Given the description of an element on the screen output the (x, y) to click on. 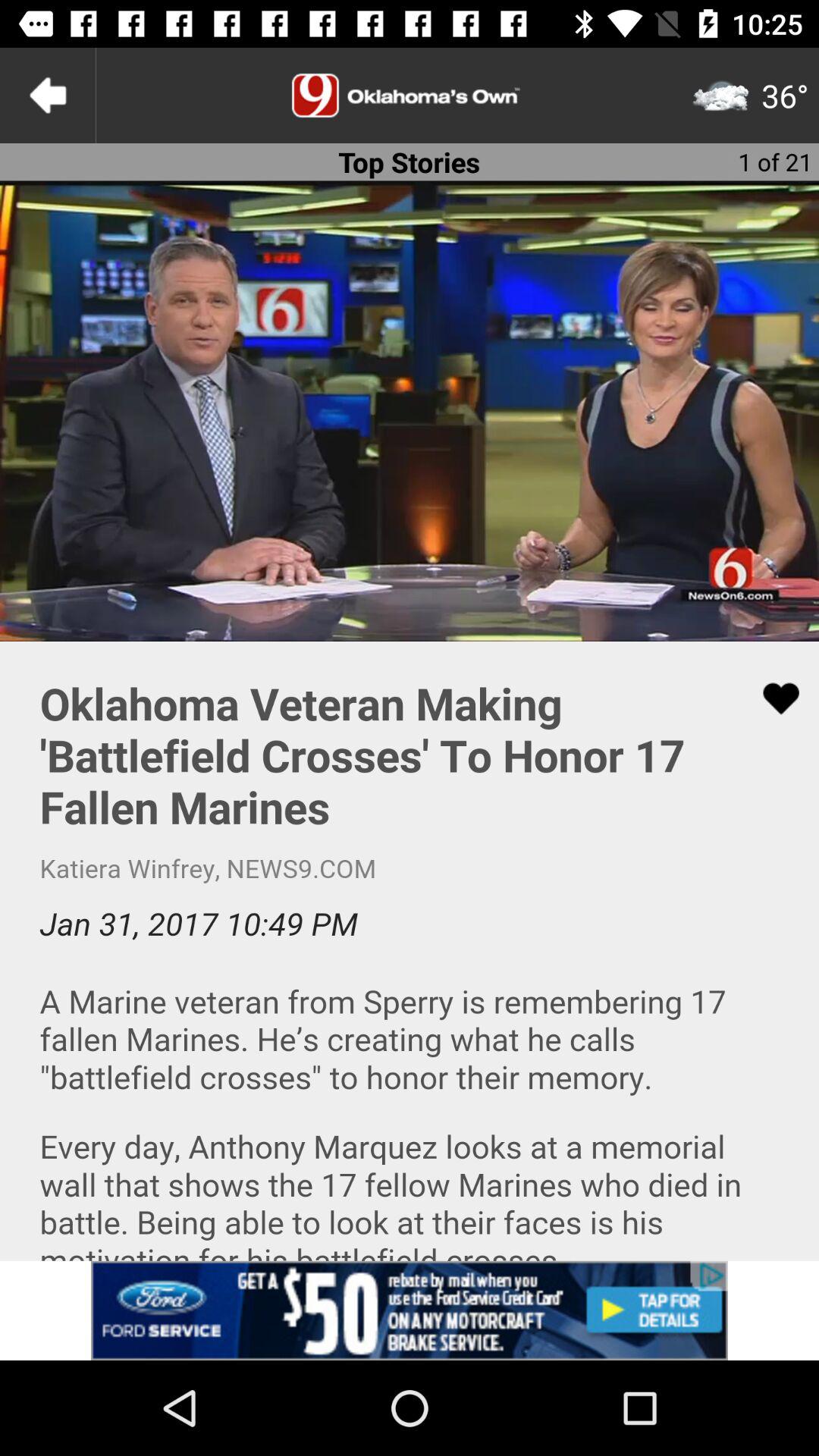
oklahoma 's own (409, 95)
